Given the description of an element on the screen output the (x, y) to click on. 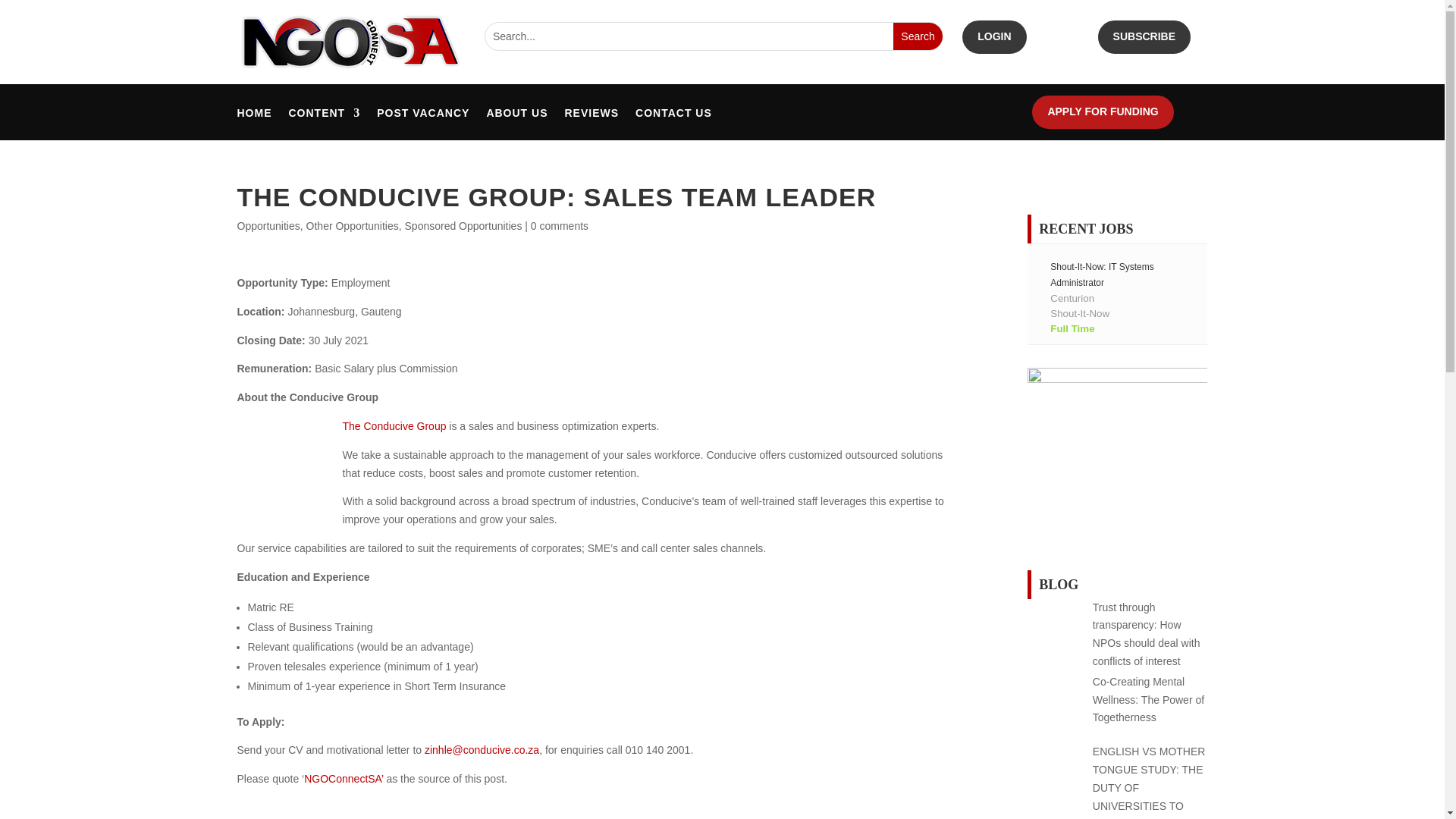
Sponsored Opportunities (463, 225)
SUBSCRIBE (1144, 37)
0 comments (559, 225)
APPLY FOR FUNDING (1102, 111)
The Conducive Group (394, 426)
Other Opportunities (351, 225)
CONTACT US (672, 115)
POST VACANCY (422, 115)
